Given the description of an element on the screen output the (x, y) to click on. 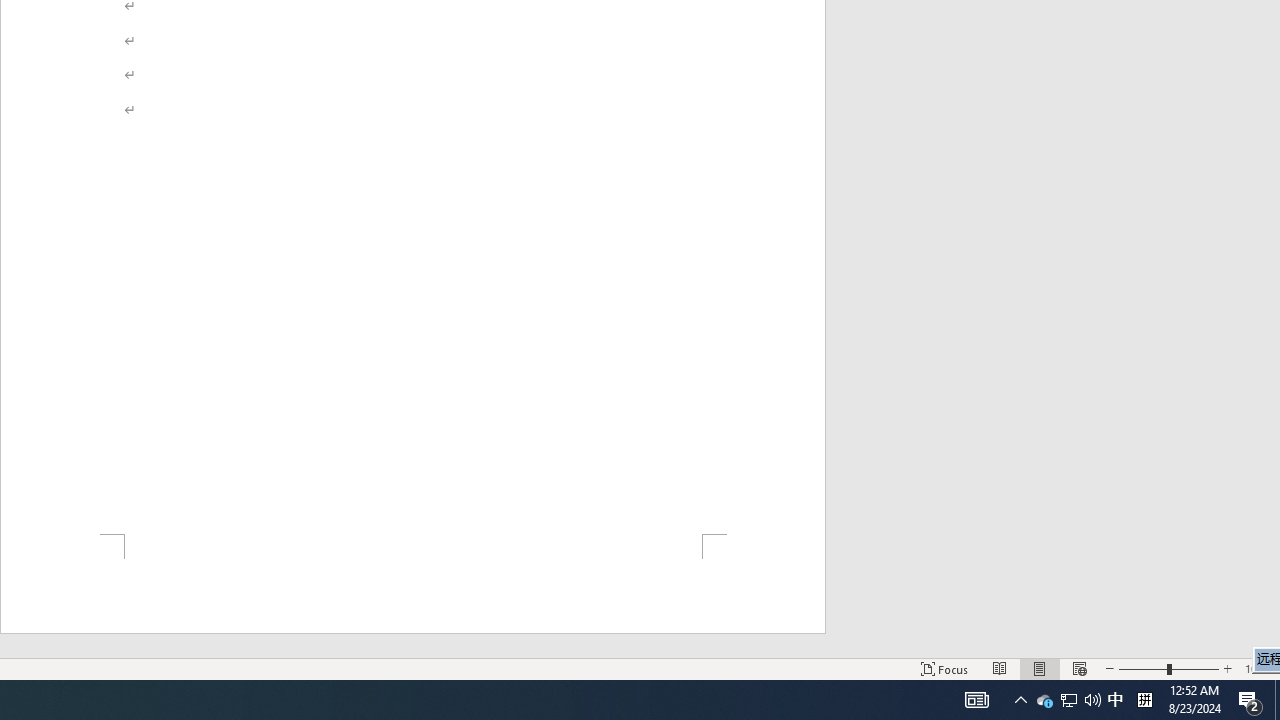
Zoom In (1227, 668)
Read Mode (1000, 668)
